Given the description of an element on the screen output the (x, y) to click on. 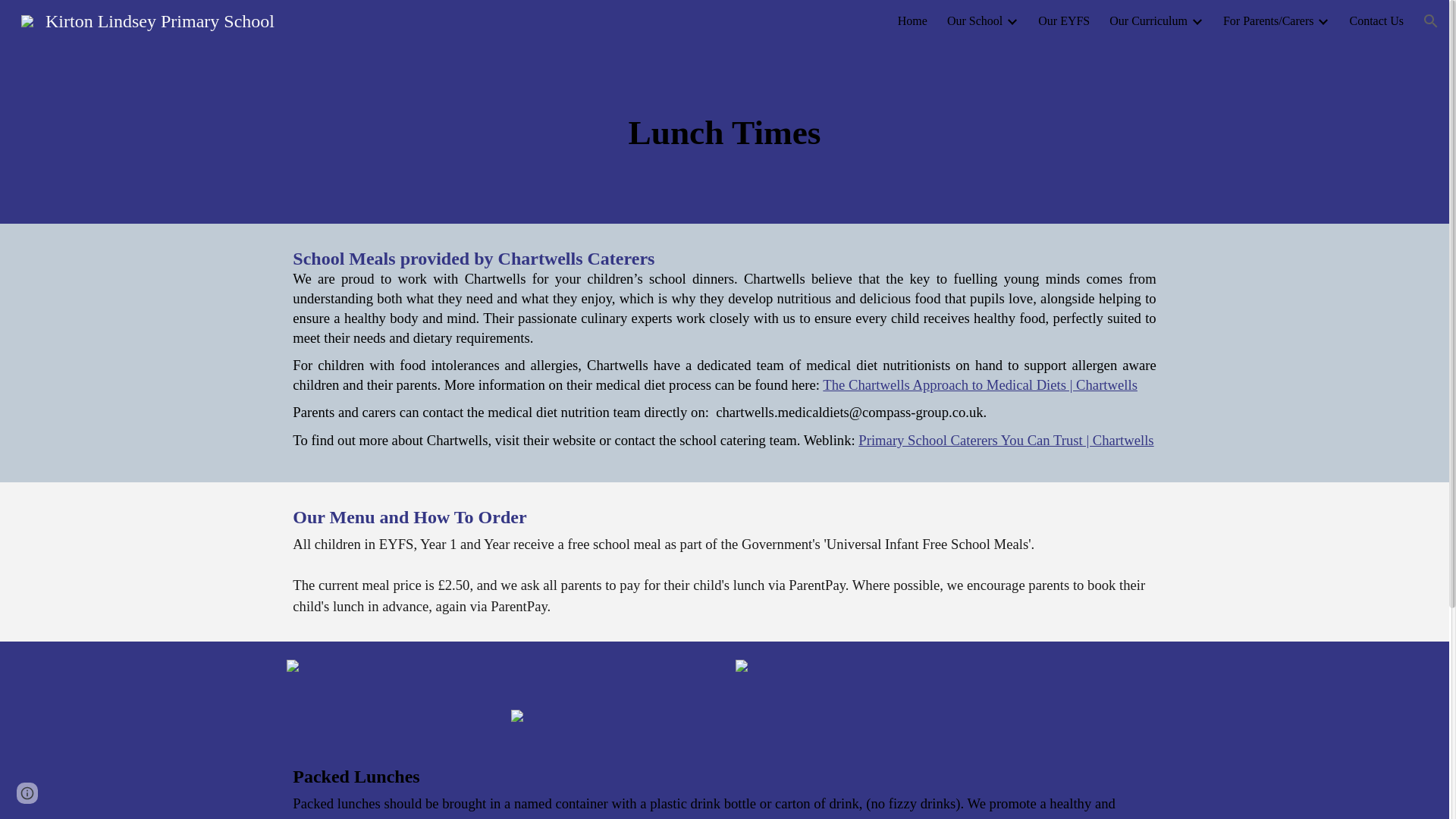
Kirton Lindsey Primary School (147, 19)
